Given the description of an element on the screen output the (x, y) to click on. 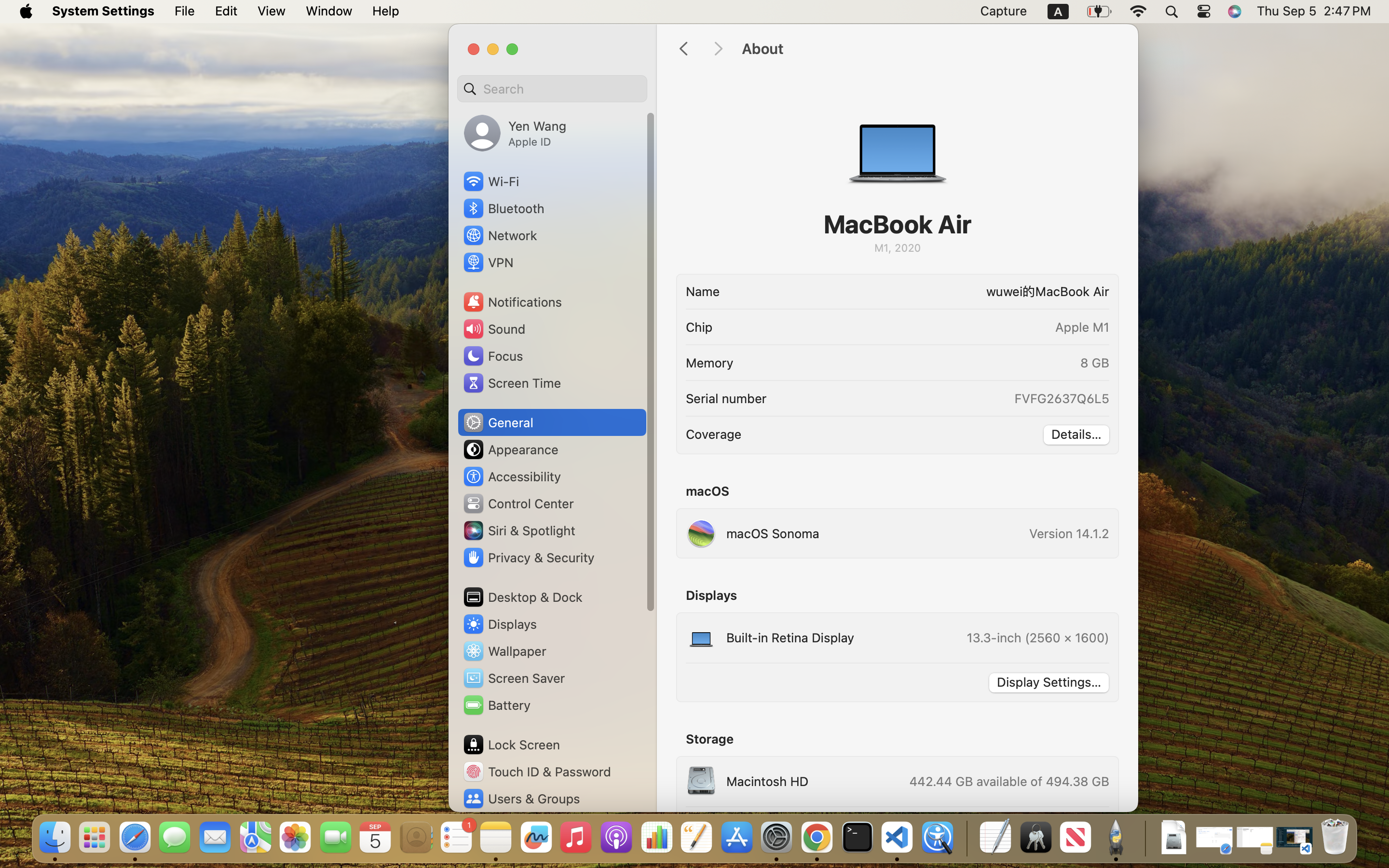
Accessibility Element type: AXStaticText (511, 476)
Built-in Retina Display Element type: AXStaticText (769, 637)
8 GB Element type: AXStaticText (1094, 362)
Wallpaper Element type: AXStaticText (503, 650)
Appearance Element type: AXStaticText (510, 449)
